Given the description of an element on the screen output the (x, y) to click on. 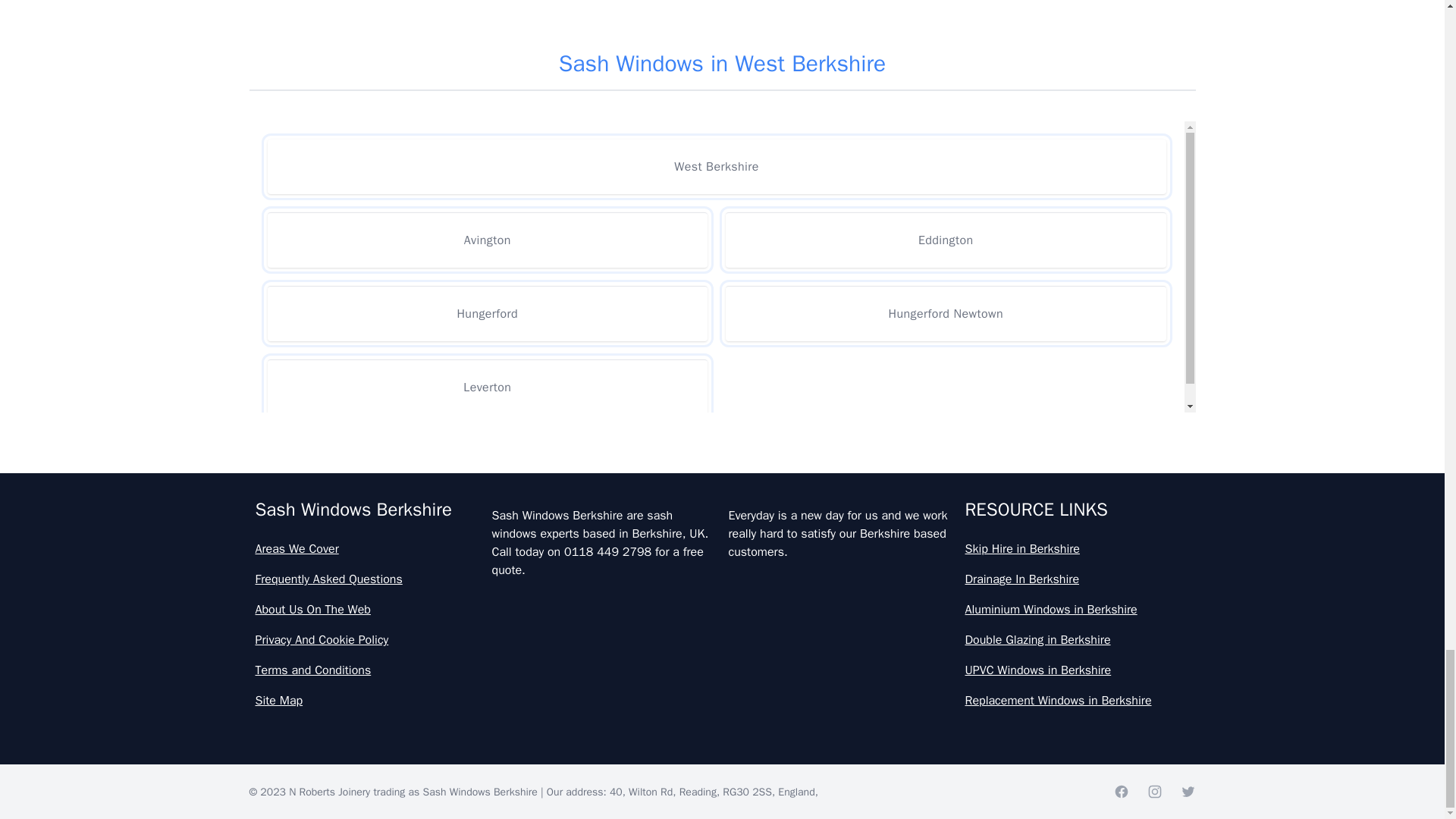
Can You Paint Sash Windows From Inside In Reading (722, 268)
How Do Upvc Sash Windows Work In Reading (722, 668)
Are Upvc Sash Windows More Expensive In Reading (722, 134)
How Do Sash Windows Work In Reading (722, 602)
Replacement Windows in Berkshire (1076, 700)
Skip Hire in Berkshire (1076, 548)
How Does A Sash Window Work In Reading (722, 735)
Do Sash Windows Open Top And Bottom In Reading (722, 401)
Drainage In Berkshire (1076, 579)
Can You Buy Just A Window Sash In Reading (722, 201)
